Given the description of an element on the screen output the (x, y) to click on. 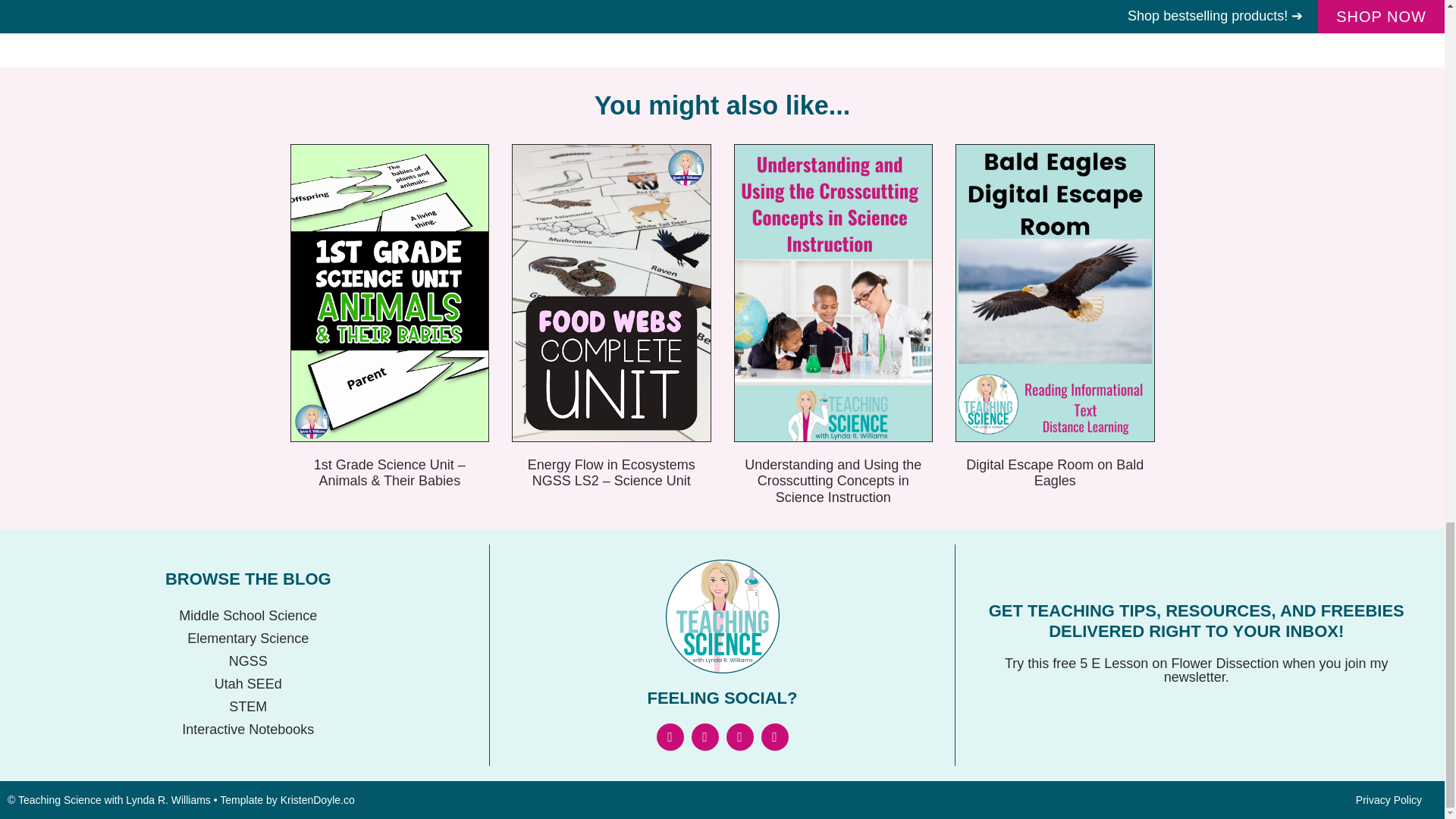
STEM (247, 706)
Digital Escape Room on Bald Eagles (1054, 472)
Utah SEEd (247, 683)
Middle School Science (247, 615)
Elementary Science (247, 638)
NGSS (247, 661)
